Given the description of an element on the screen output the (x, y) to click on. 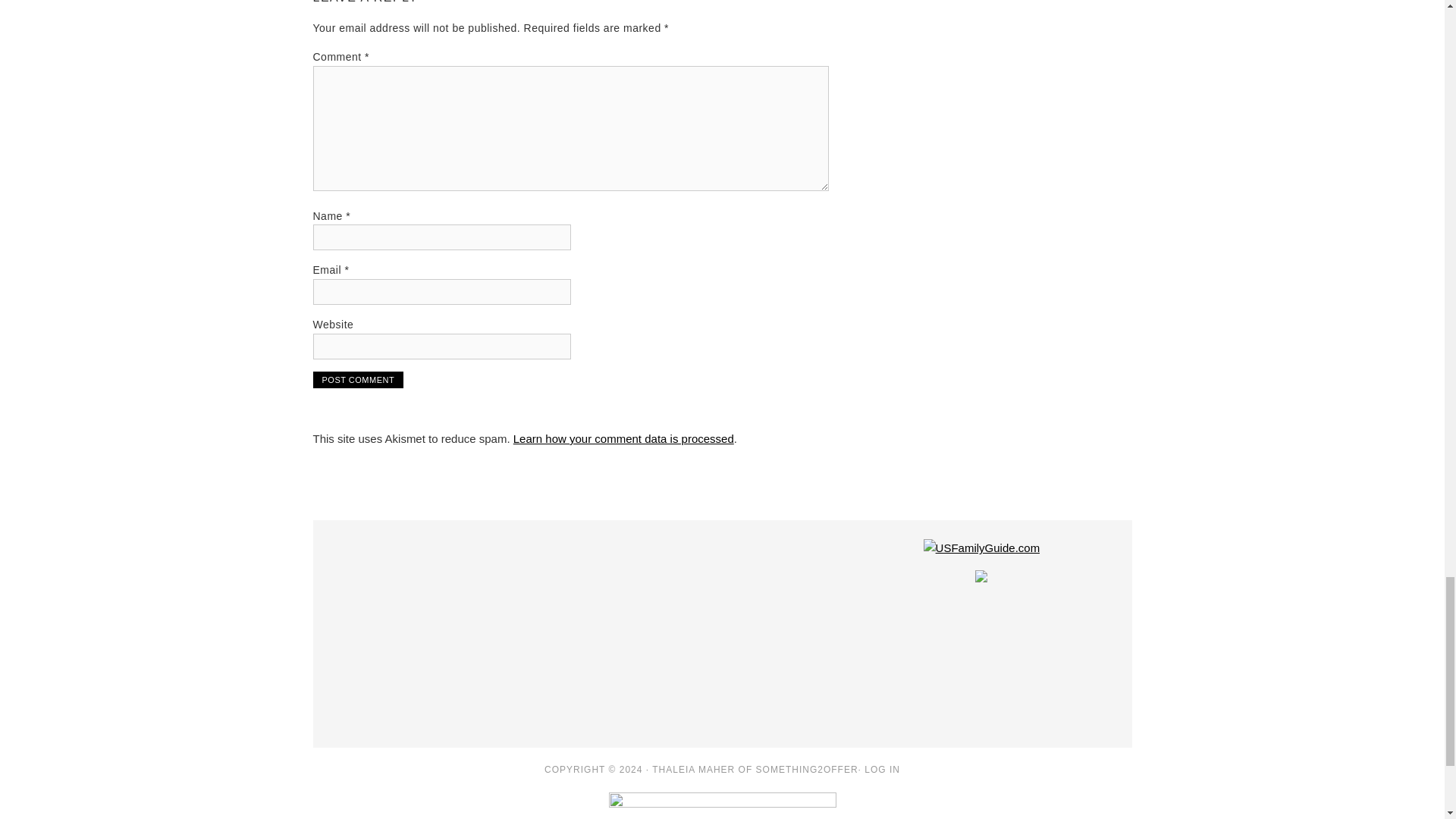
Post Comment (358, 379)
